Given the description of an element on the screen output the (x, y) to click on. 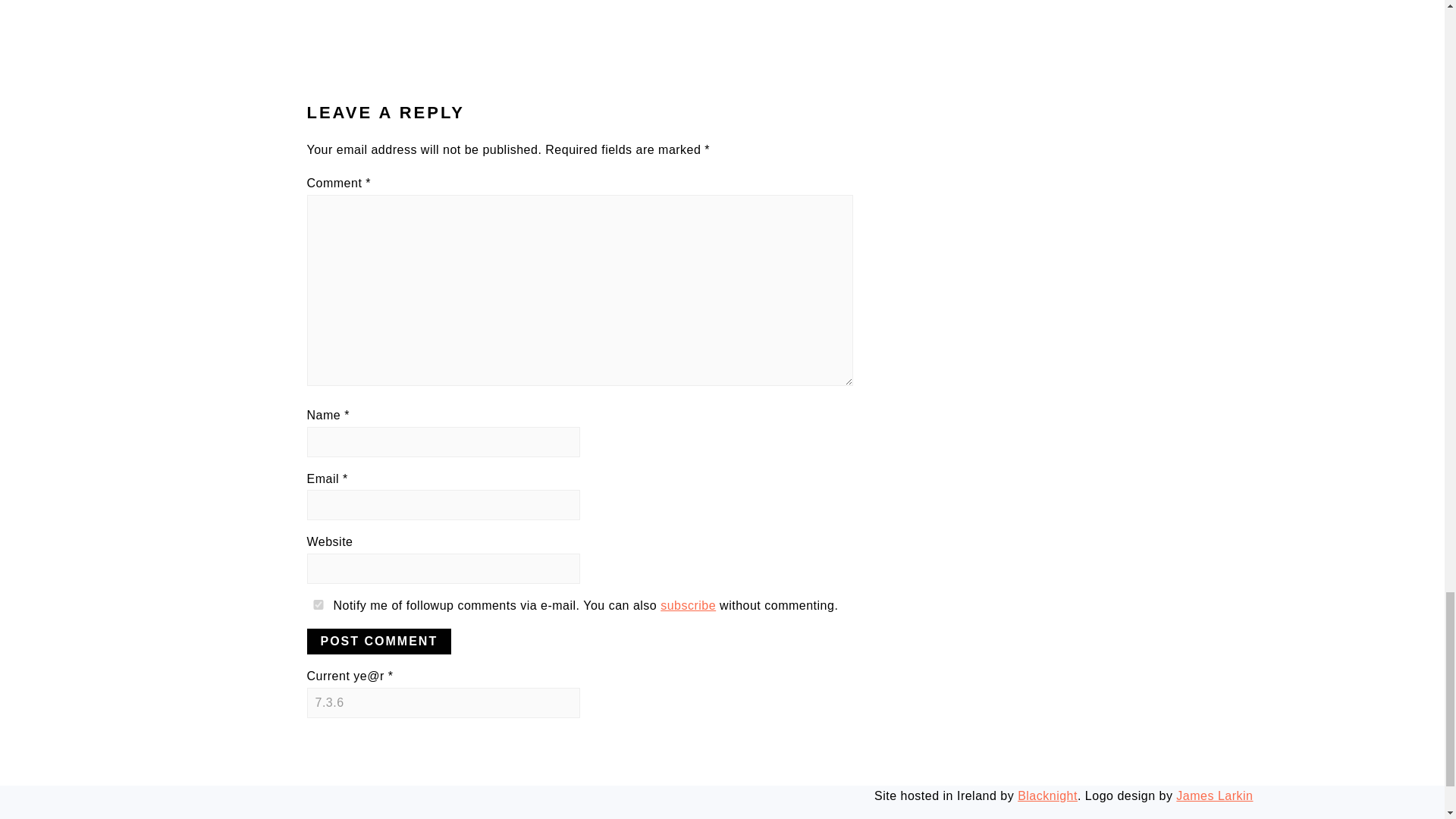
Post Comment (378, 641)
subscribe (688, 604)
7.3.6 (442, 702)
Post Comment (378, 641)
yes (317, 604)
